Given the description of an element on the screen output the (x, y) to click on. 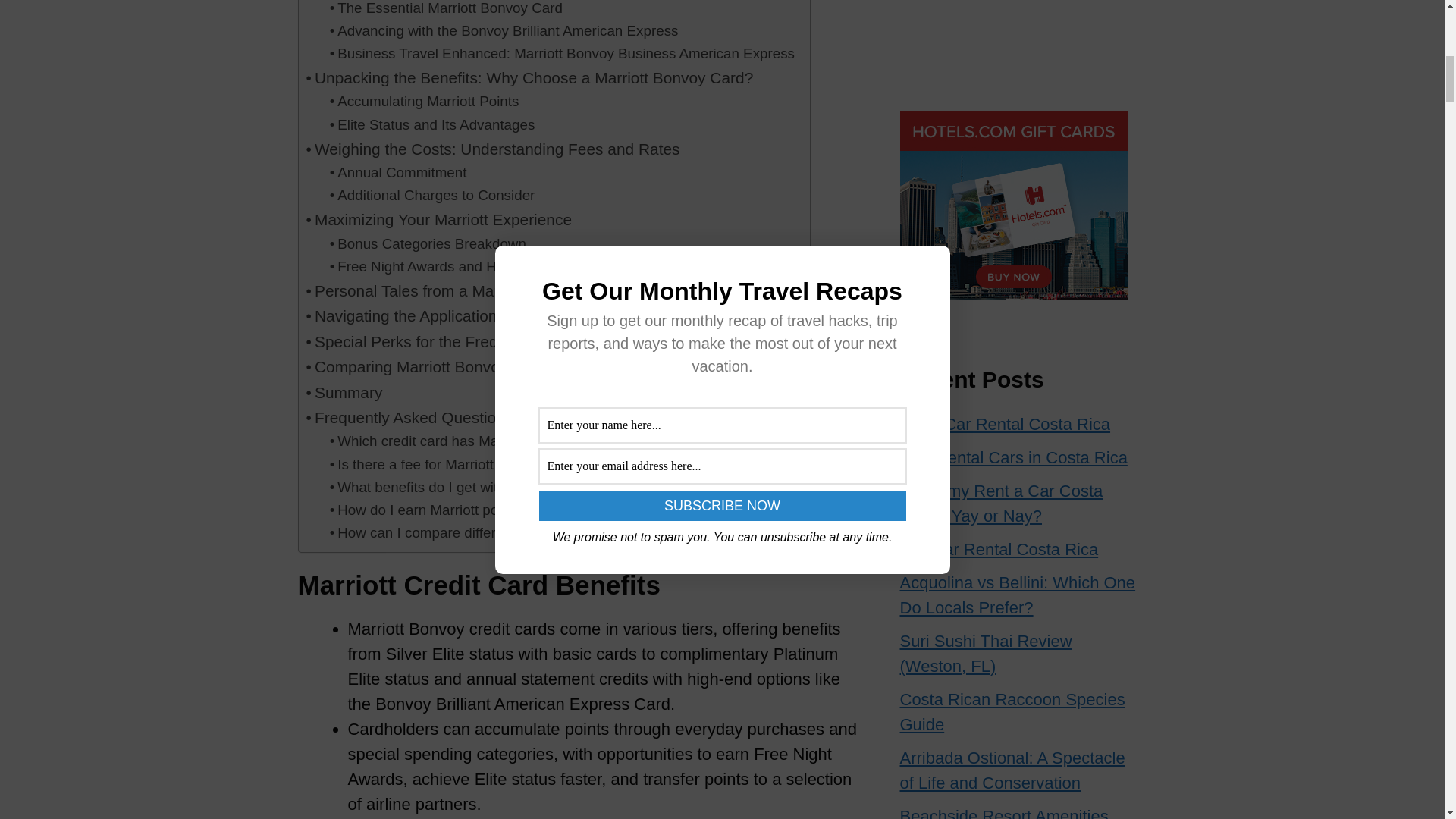
Advancing with the Bonvoy Brilliant American Express (504, 30)
The Essential Marriott Bonvoy Card (446, 9)
Accumulating Marriott Points (424, 101)
Free Night Awards and How to Use Them (464, 266)
The Essential Marriott Bonvoy Card (446, 9)
Annual Commitment (398, 172)
Additional Charges to Consider (432, 195)
Advancing with the Bonvoy Brilliant American Express (504, 30)
Accumulating Marriott Points (424, 101)
Elite Status and Its Advantages (432, 124)
Maximizing Your Marriott Experience (438, 219)
Unpacking the Benefits: Why Choose a Marriott Bonvoy Card? (529, 77)
Unpacking the Benefits: Why Choose a Marriott Bonvoy Card? (529, 77)
